Given the description of an element on the screen output the (x, y) to click on. 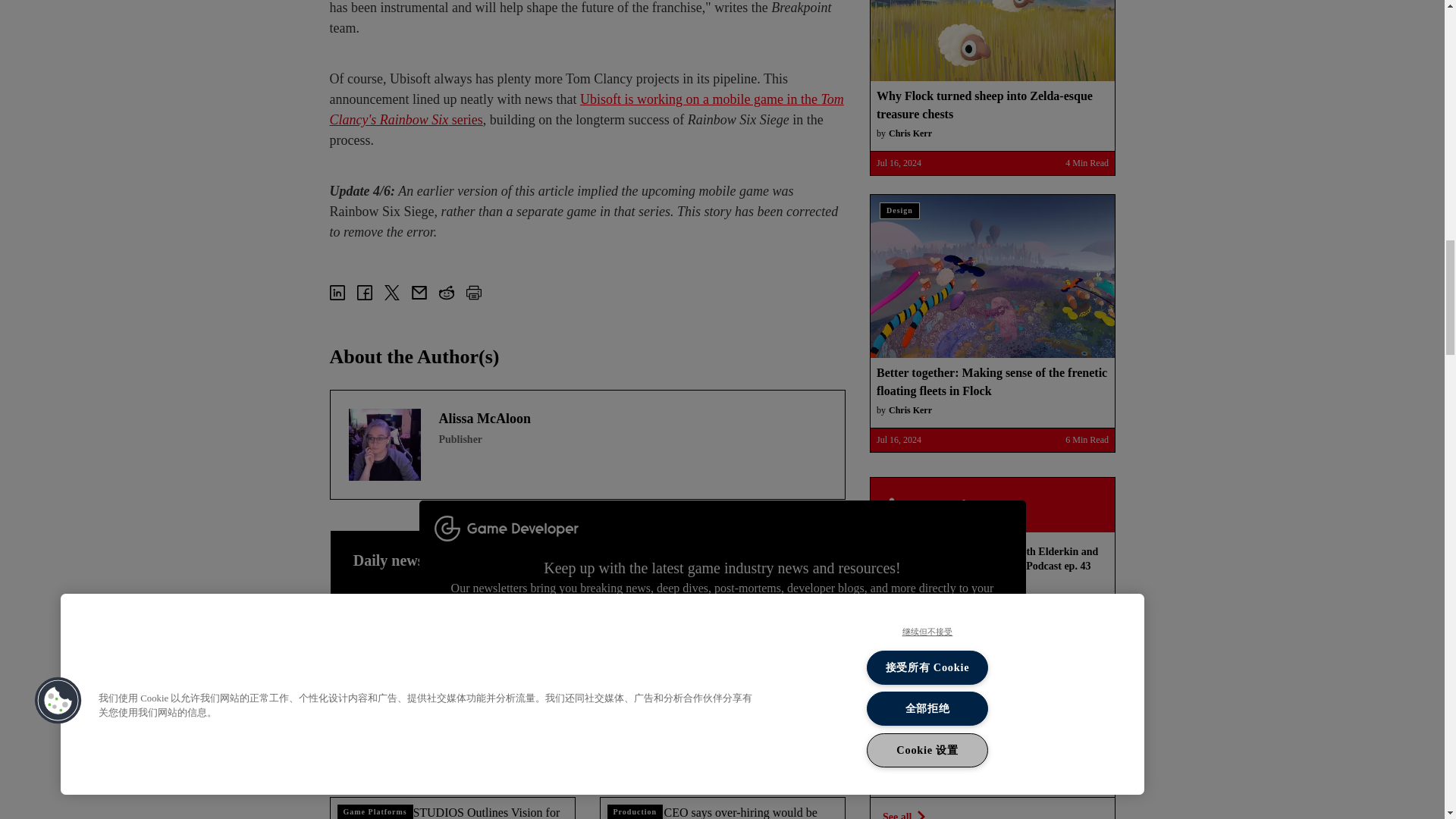
Alissa McAloon (384, 444)
